Given the description of an element on the screen output the (x, y) to click on. 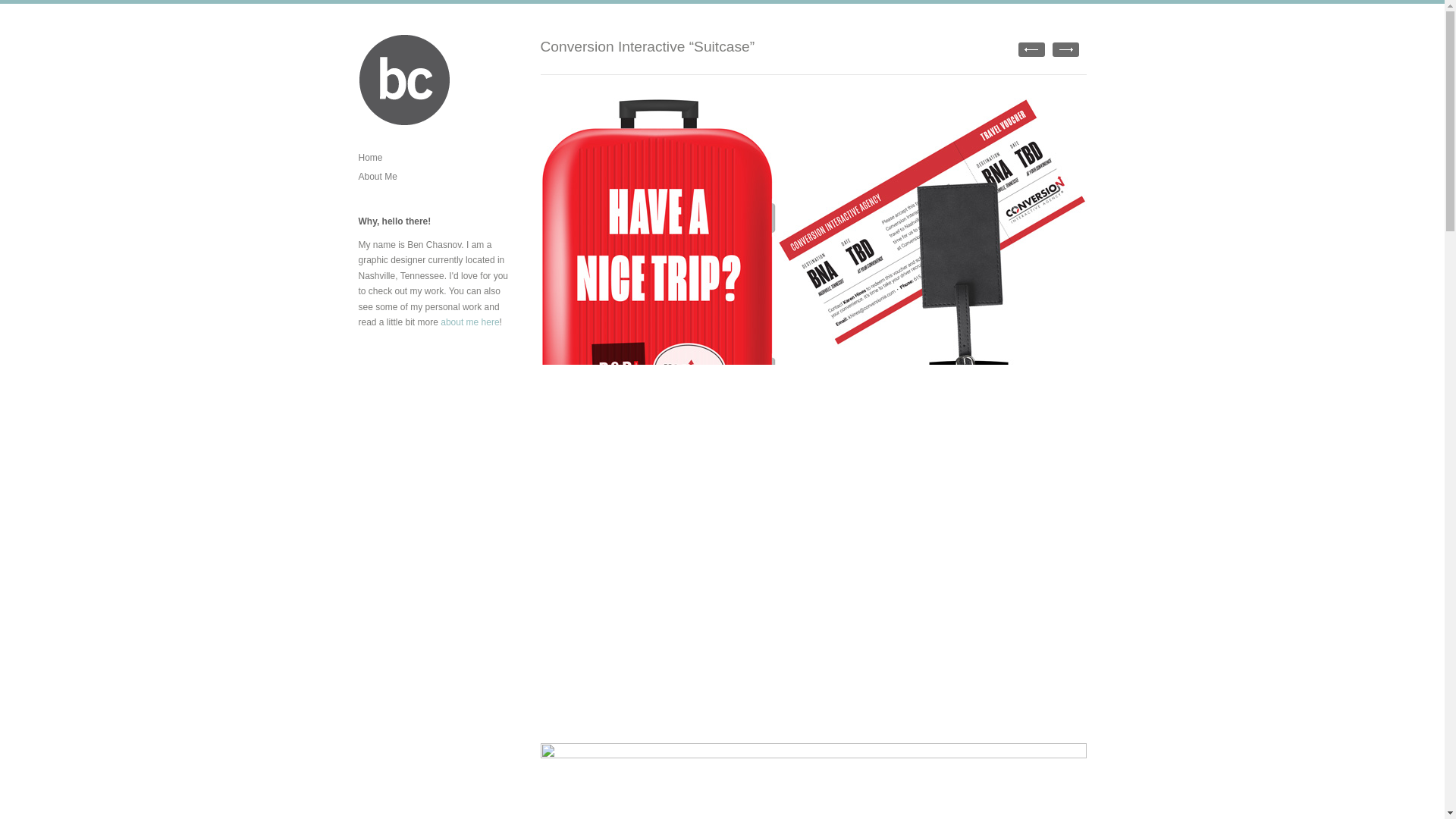
Home (369, 157)
about me here (470, 321)
About Me (377, 176)
1 (1065, 49)
1 (1030, 49)
